Given the description of an element on the screen output the (x, y) to click on. 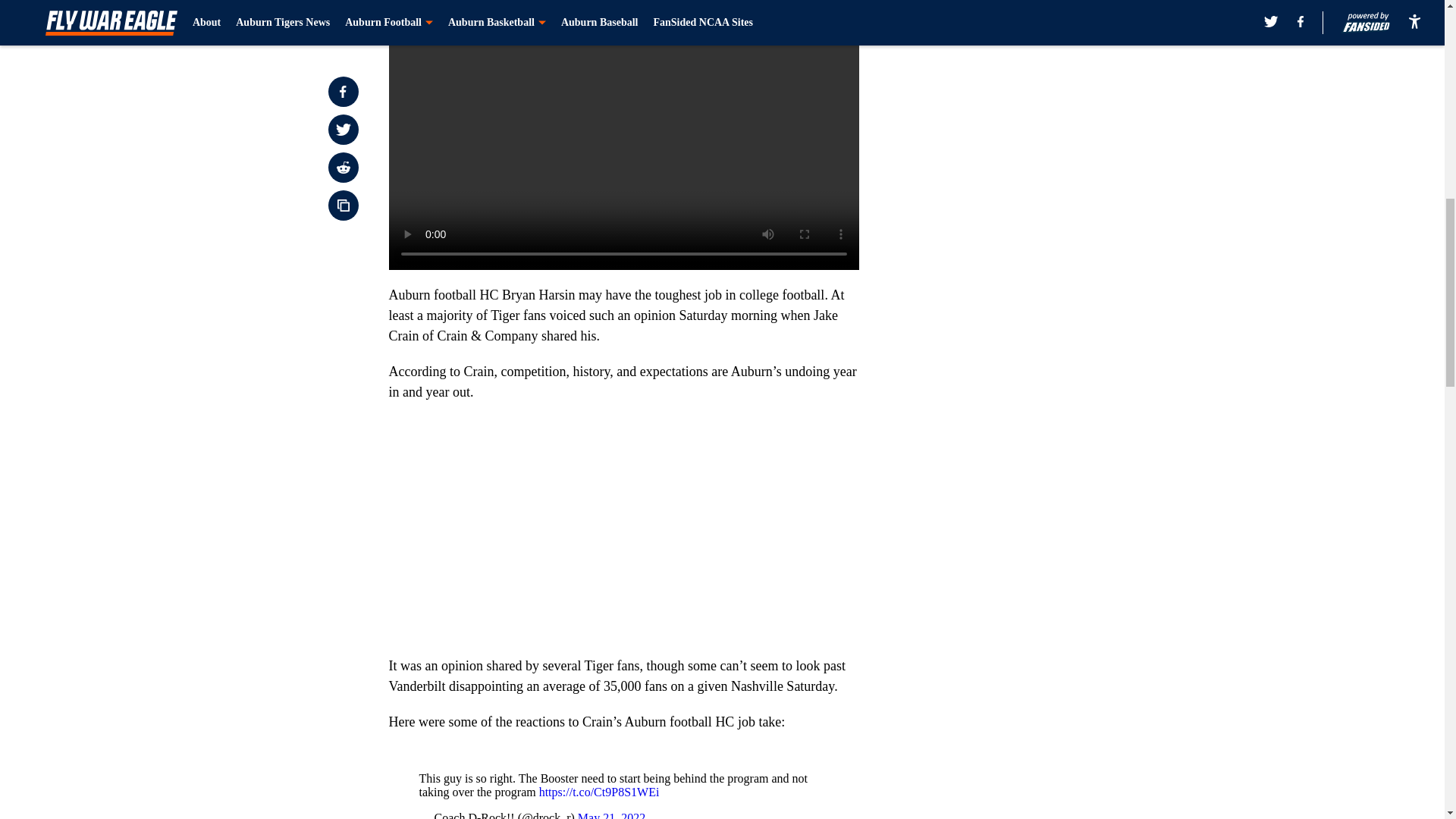
3rd party ad content (1047, 100)
3rd party ad content (1047, 320)
May 21, 2022 (611, 815)
